Given the description of an element on the screen output the (x, y) to click on. 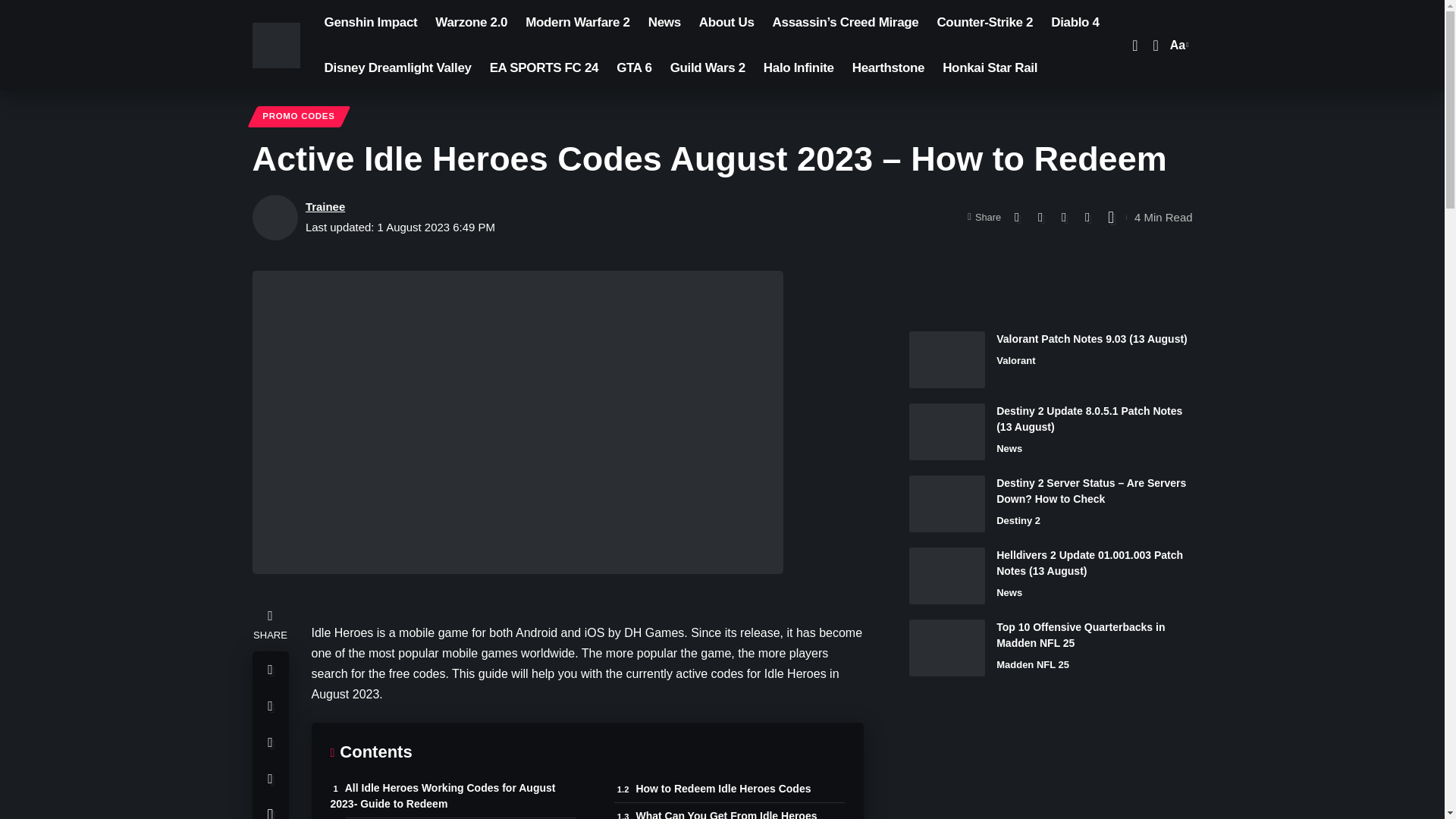
GTA 6 (634, 67)
News (1177, 45)
Genshin Impact (664, 22)
Warzone 2.0 (370, 22)
Disney Dreamlight Valley (471, 22)
Top 10 Offensive Quarterbacks in Madden NFL 25 (397, 67)
Hearthstone (946, 647)
Counter-Strike 2 (888, 67)
EA SPORTS FC 24 (984, 22)
